Given the description of an element on the screen output the (x, y) to click on. 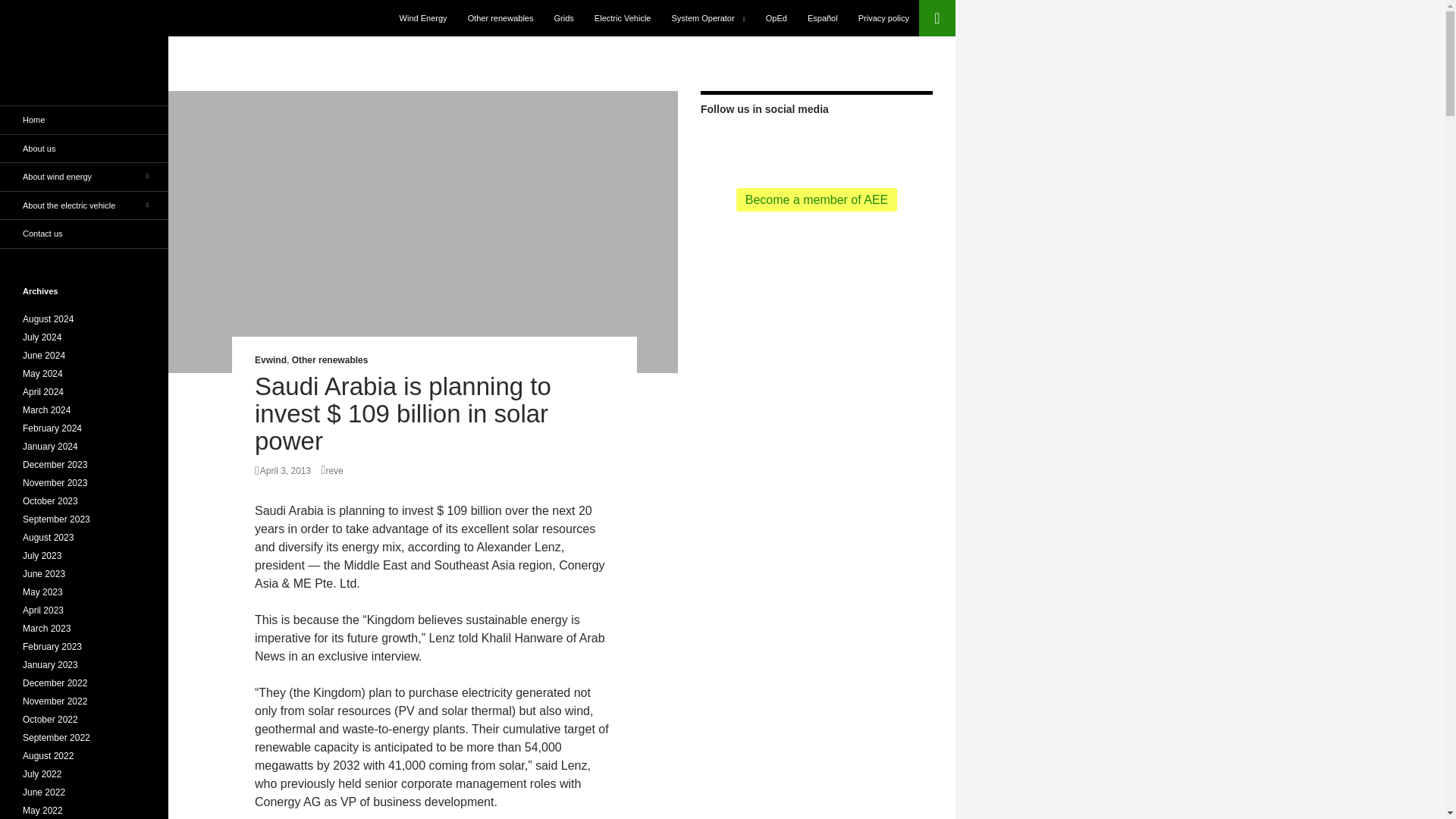
Other renewables (330, 359)
twitter (743, 143)
System Operator (708, 18)
Evwind (270, 359)
Electric Vehicle (623, 18)
Instagram (889, 143)
Privacy policy (883, 18)
OpEd (776, 18)
LinkedIn (865, 143)
Grids (563, 18)
